Given the description of an element on the screen output the (x, y) to click on. 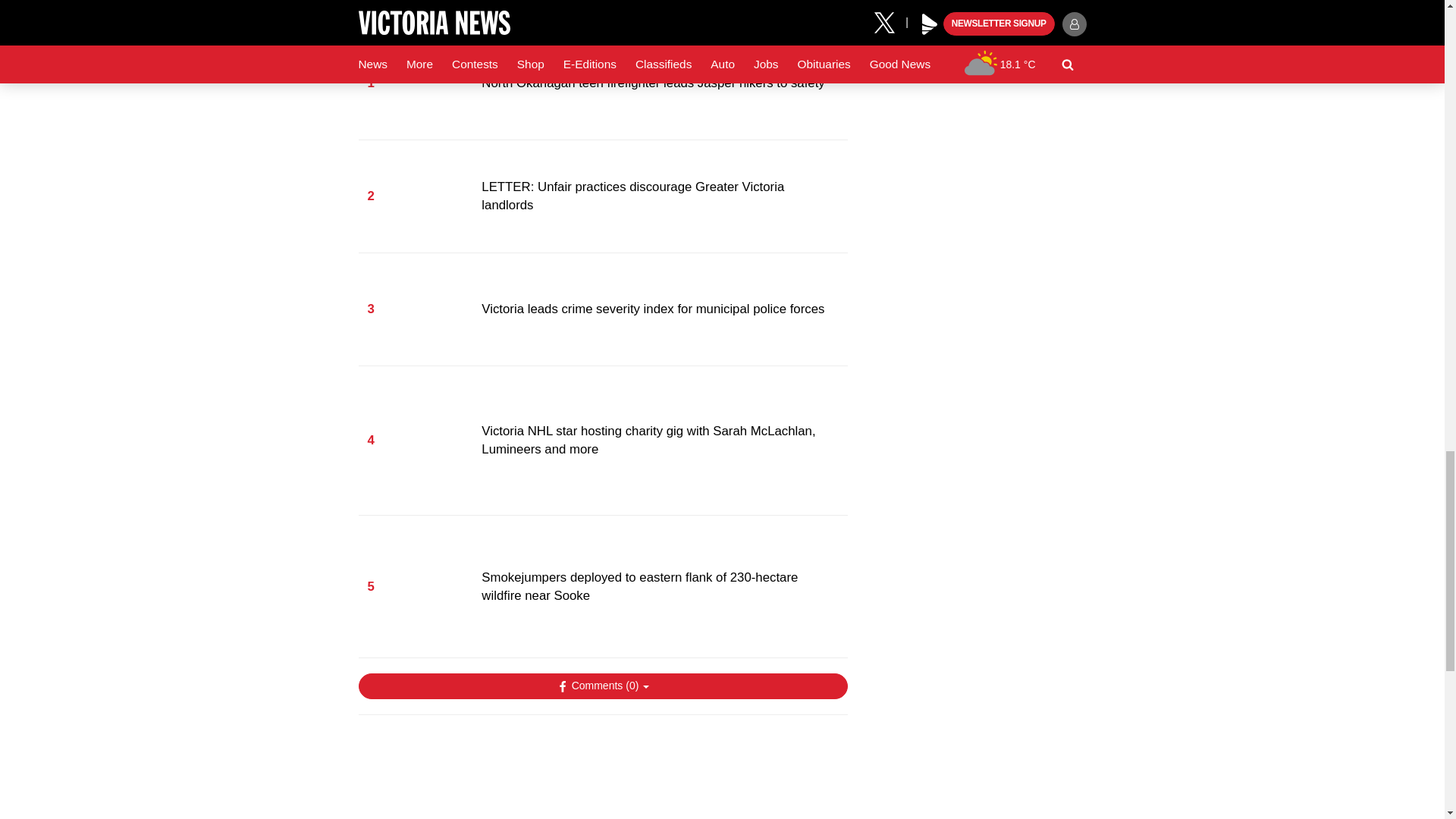
Show Comments (602, 686)
